Given the description of an element on the screen output the (x, y) to click on. 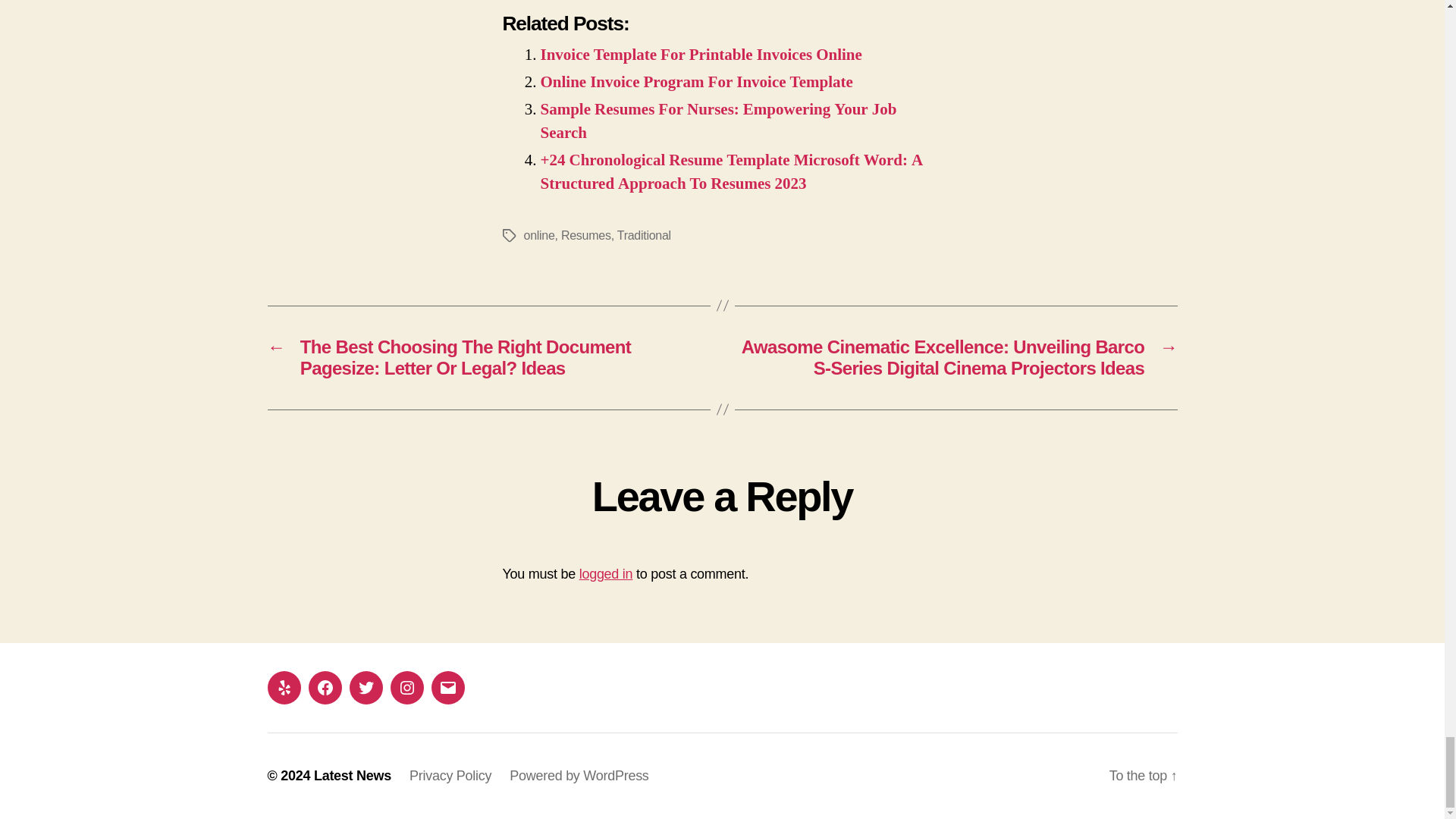
logged in (606, 573)
Powered by WordPress (578, 775)
Privacy Policy (450, 775)
Email (447, 687)
Sample Resumes For Nurses: Empowering Your Job Search (718, 121)
Traditional (644, 235)
Yelp (282, 687)
Invoice Template For Printable Invoices Online (700, 55)
online (538, 235)
Twitter (365, 687)
Latest News (352, 775)
Invoice Template For Printable Invoices Online (700, 55)
Online Invoice Program For Invoice Template (695, 82)
Online Invoice Program For Invoice Template (695, 82)
Instagram (406, 687)
